Given the description of an element on the screen output the (x, y) to click on. 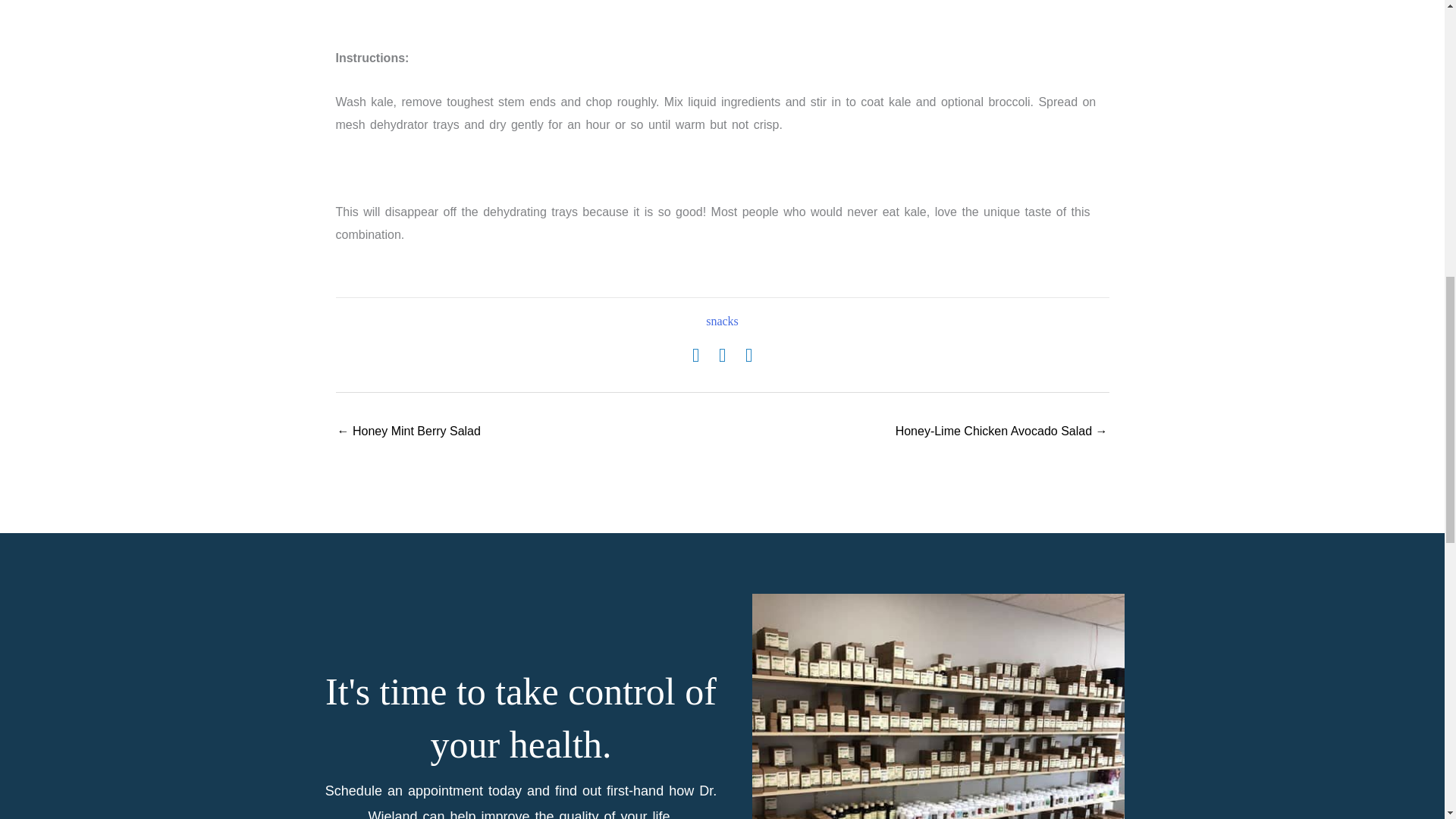
Office-Photo-500-2 (938, 706)
snacks (722, 320)
